Given the description of an element on the screen output the (x, y) to click on. 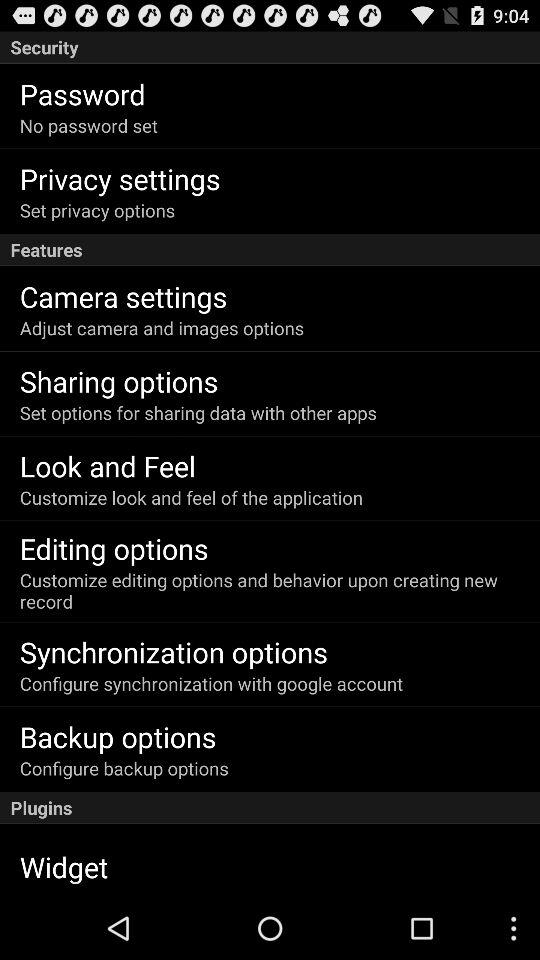
select the app above the sharing options app (161, 327)
